Given the description of an element on the screen output the (x, y) to click on. 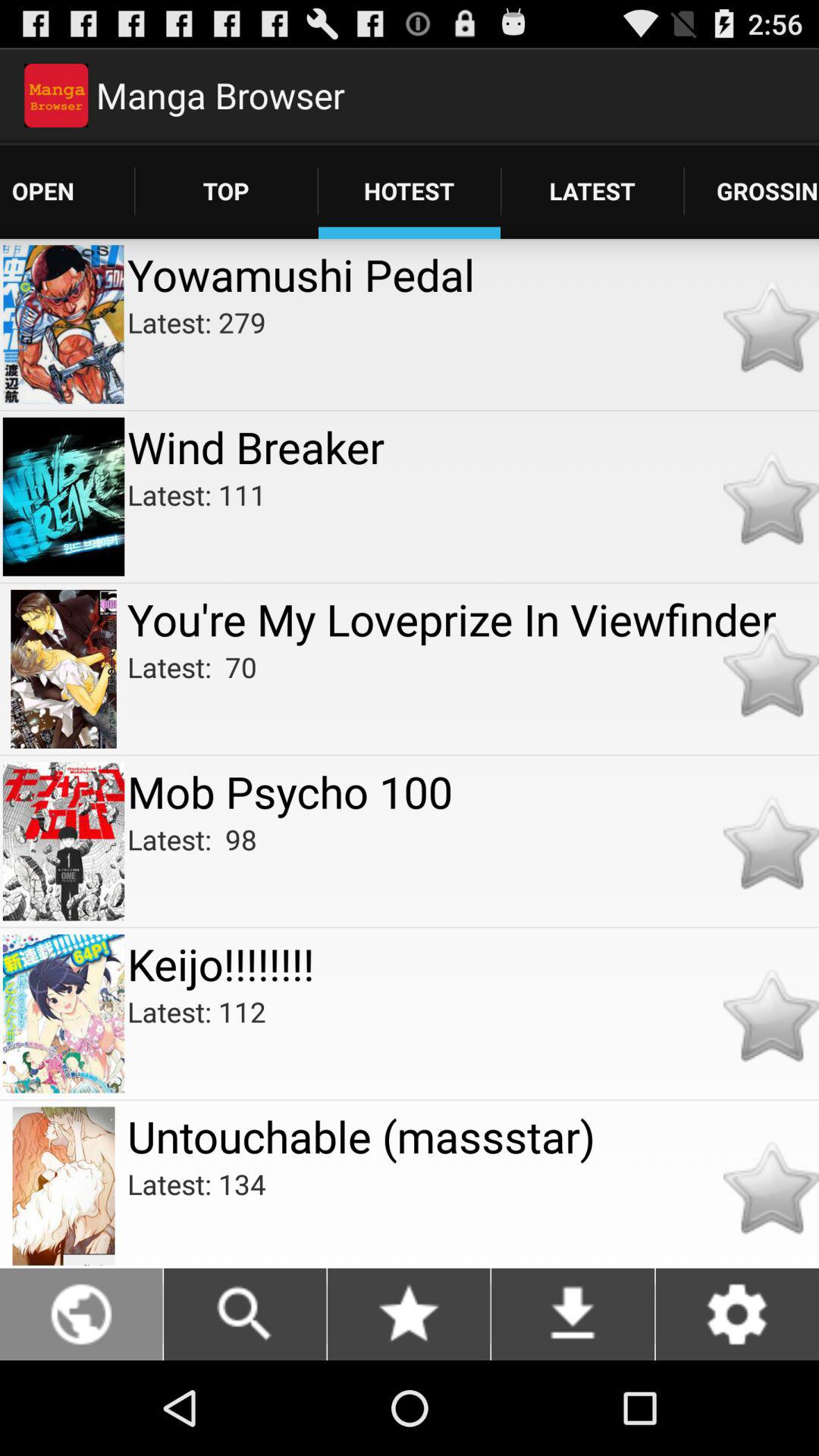
flip to mob psycho 100 icon (473, 791)
